Given the description of an element on the screen output the (x, y) to click on. 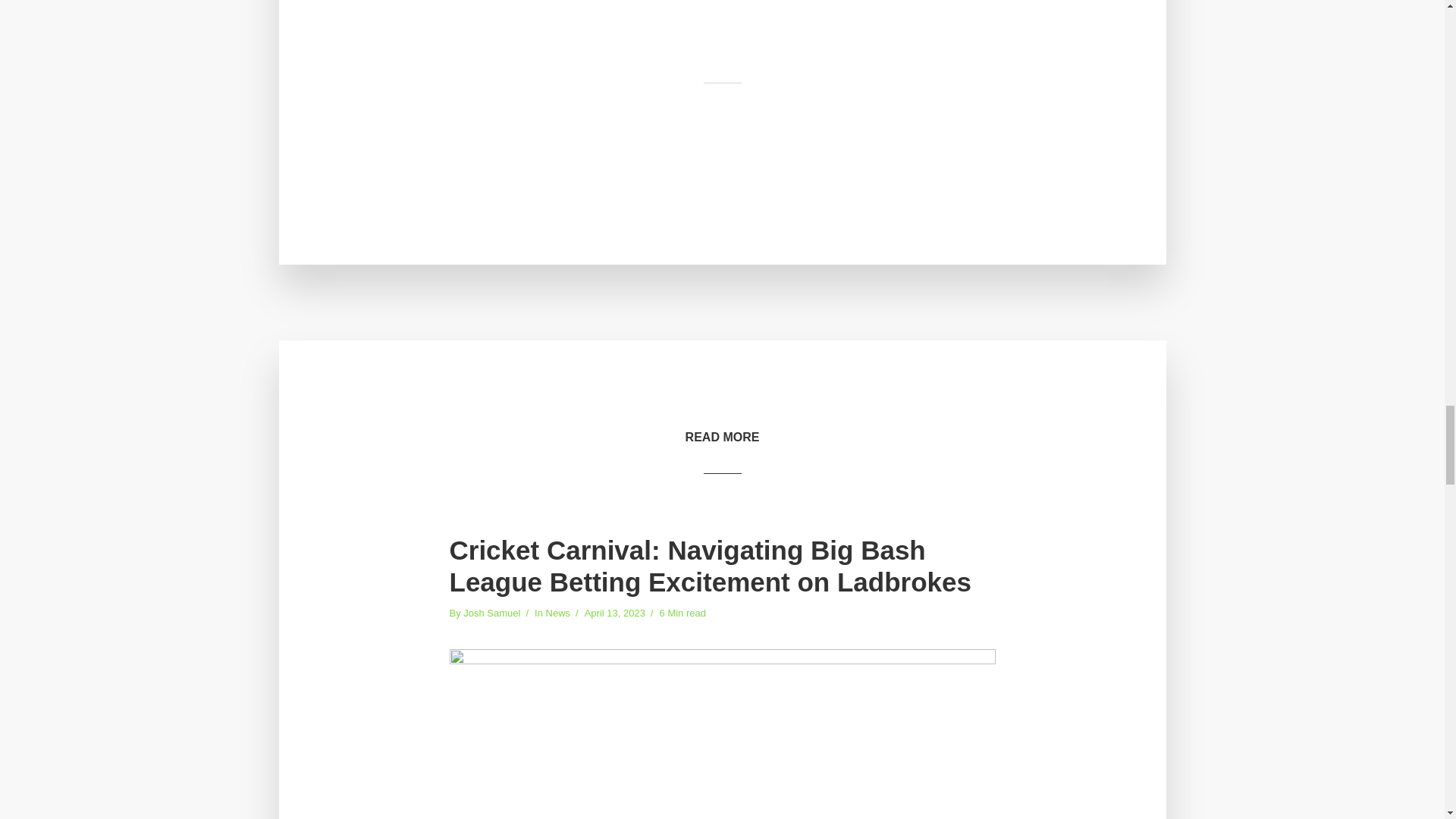
News (558, 614)
Josh Samuel (491, 614)
